Given the description of an element on the screen output the (x, y) to click on. 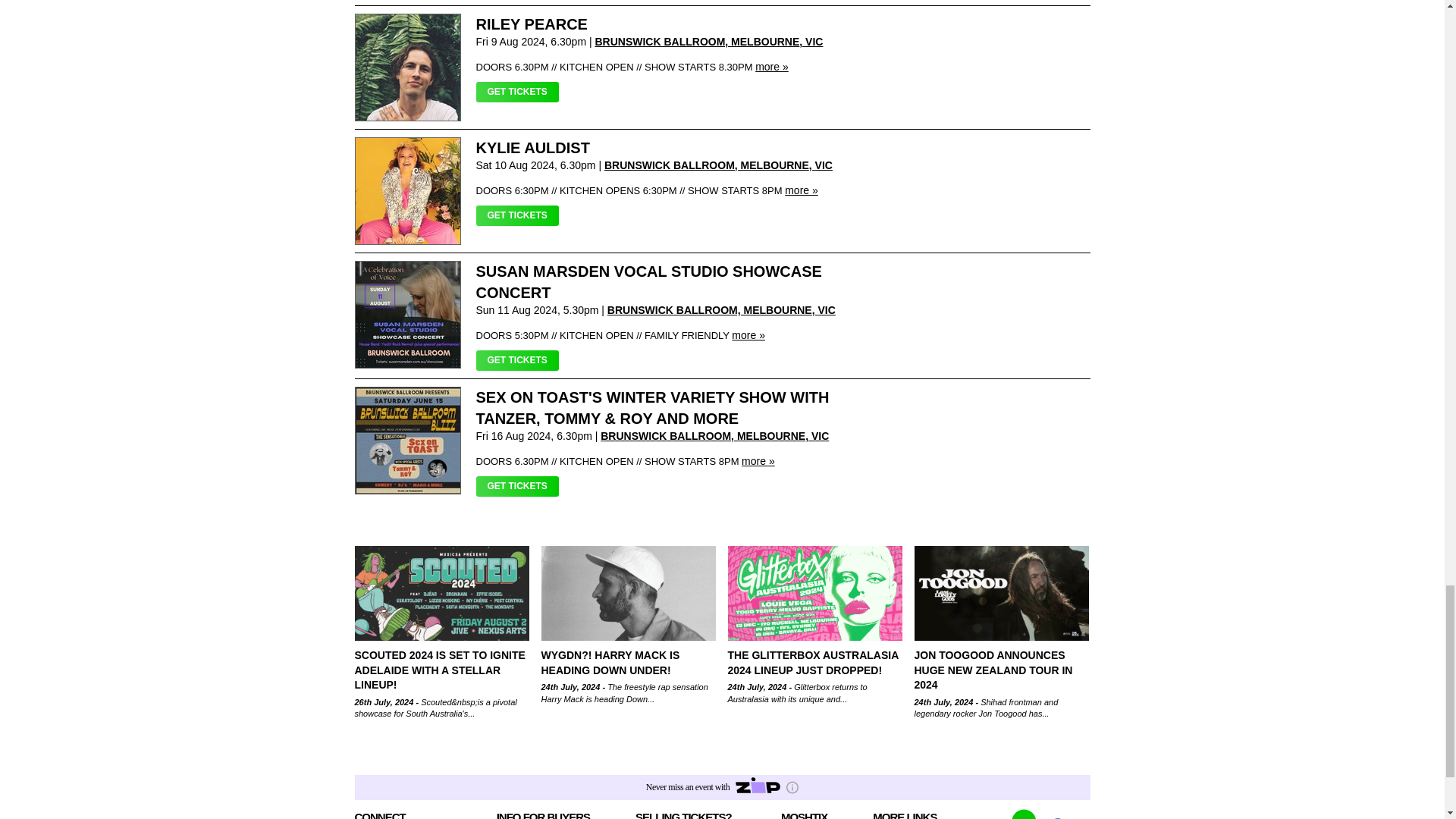
SUSAN MARSDEN VOCAL STUDIO SHOWCASE CONCERT (649, 281)
GET TICKETS (517, 215)
GET TICKETS (517, 91)
RILEY PEARCE (532, 23)
BRUNSWICK BALLROOM, MELBOURNE, VIC (708, 41)
BRUNSWICK BALLROOM, MELBOURNE, VIC (718, 164)
KYLIE AULDIST (532, 147)
